Given the description of an element on the screen output the (x, y) to click on. 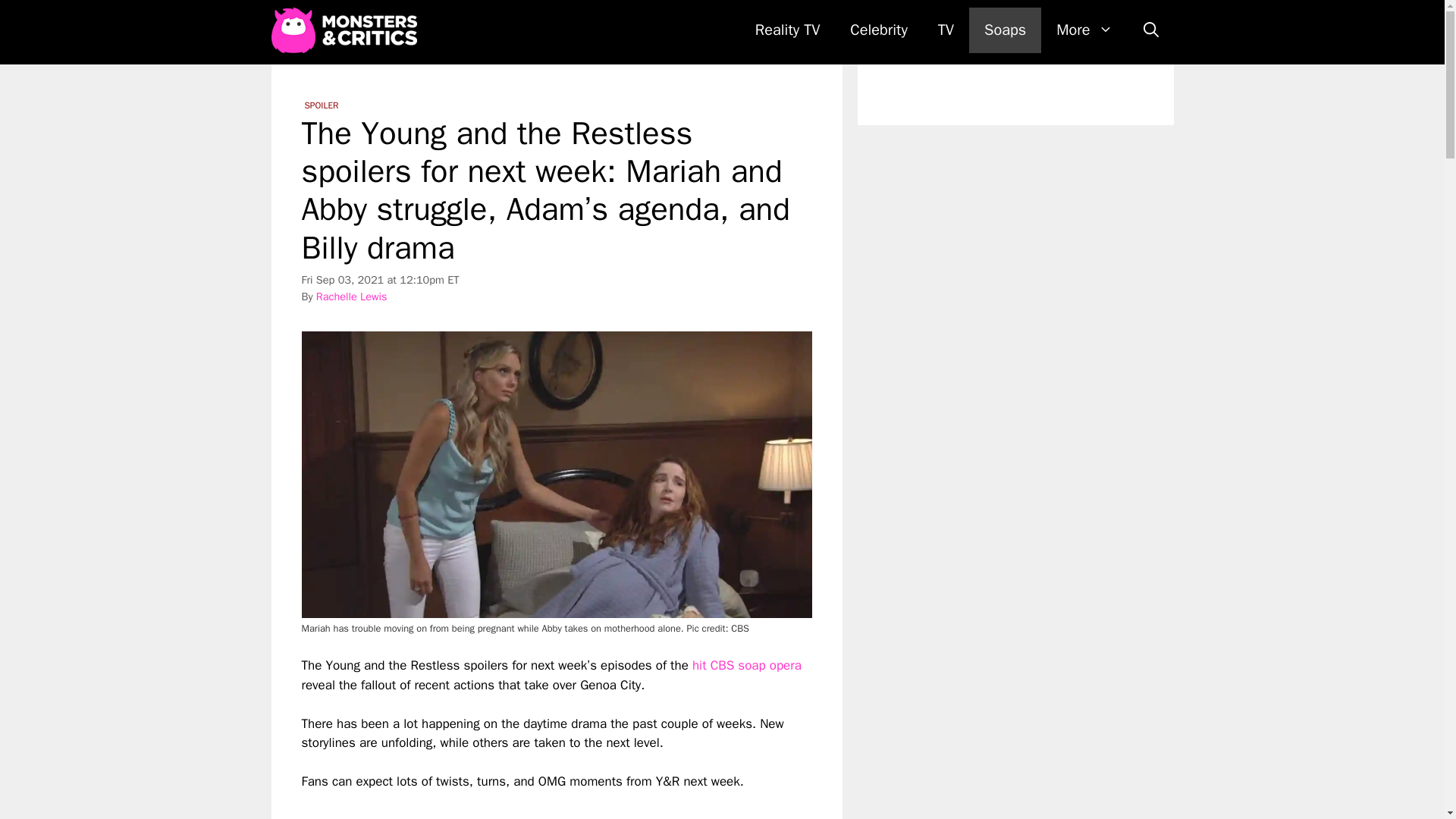
Monsters and Critics (343, 30)
hit CBS soap opera (745, 665)
View all posts by Rachelle Lewis (351, 296)
TV (946, 30)
Rachelle Lewis (351, 296)
Soaps (1005, 30)
Reality TV (787, 30)
More (1083, 30)
YouTube video player (513, 805)
Monsters and Critics (347, 30)
